Given the description of an element on the screen output the (x, y) to click on. 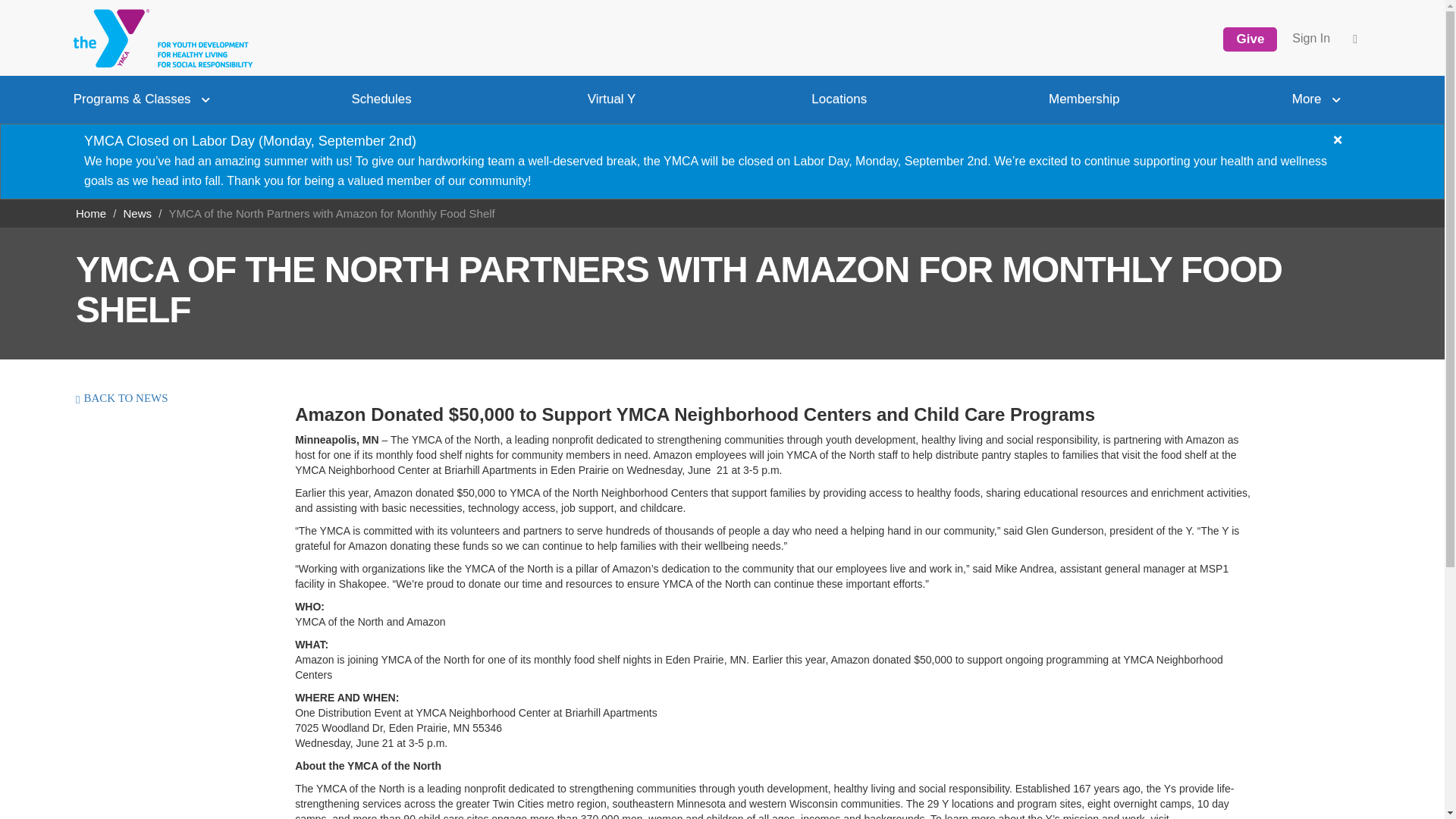
YMCA of the North (158, 38)
Give (1249, 39)
